Given the description of an element on the screen output the (x, y) to click on. 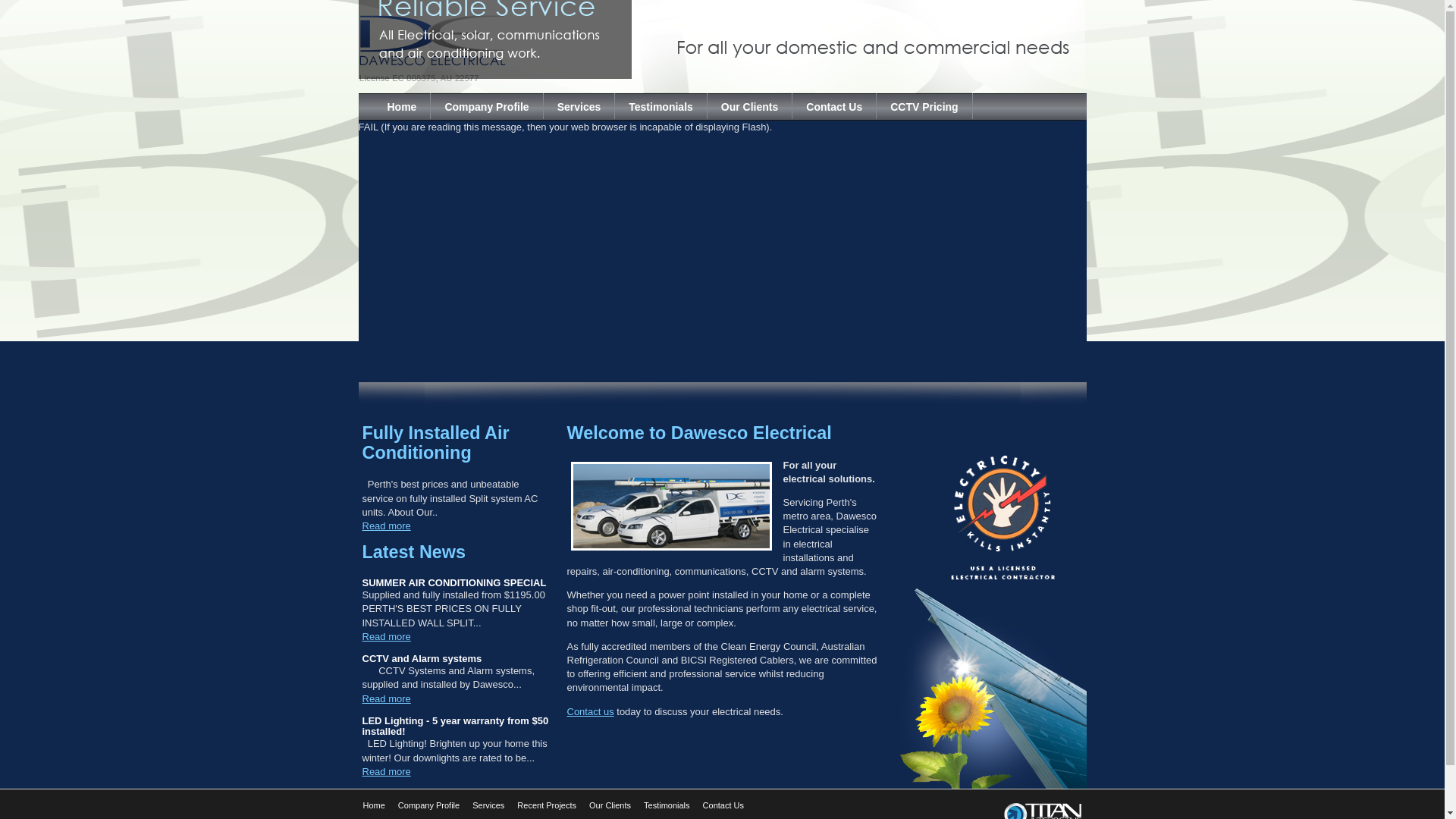
Home Element type: text (401, 106)
CCTV Pricing Element type: text (924, 106)
Read more Element type: text (386, 636)
Company Profile Element type: text (428, 805)
Contact Us Element type: text (723, 805)
Our Clients Element type: text (749, 106)
Testimonials Element type: text (666, 805)
Contact Us Element type: text (834, 106)
Read more Element type: text (386, 525)
Dawesco Electrical Element type: text (490, 46)
Company Profile Element type: text (486, 106)
Contact us Element type: text (590, 711)
Read more Element type: text (386, 698)
Home Element type: text (373, 805)
Testimonials Element type: text (661, 106)
Recent Projects Element type: text (546, 805)
Read more Element type: text (386, 771)
Services Element type: text (487, 805)
Our Clients Element type: text (609, 805)
